Given the description of an element on the screen output the (x, y) to click on. 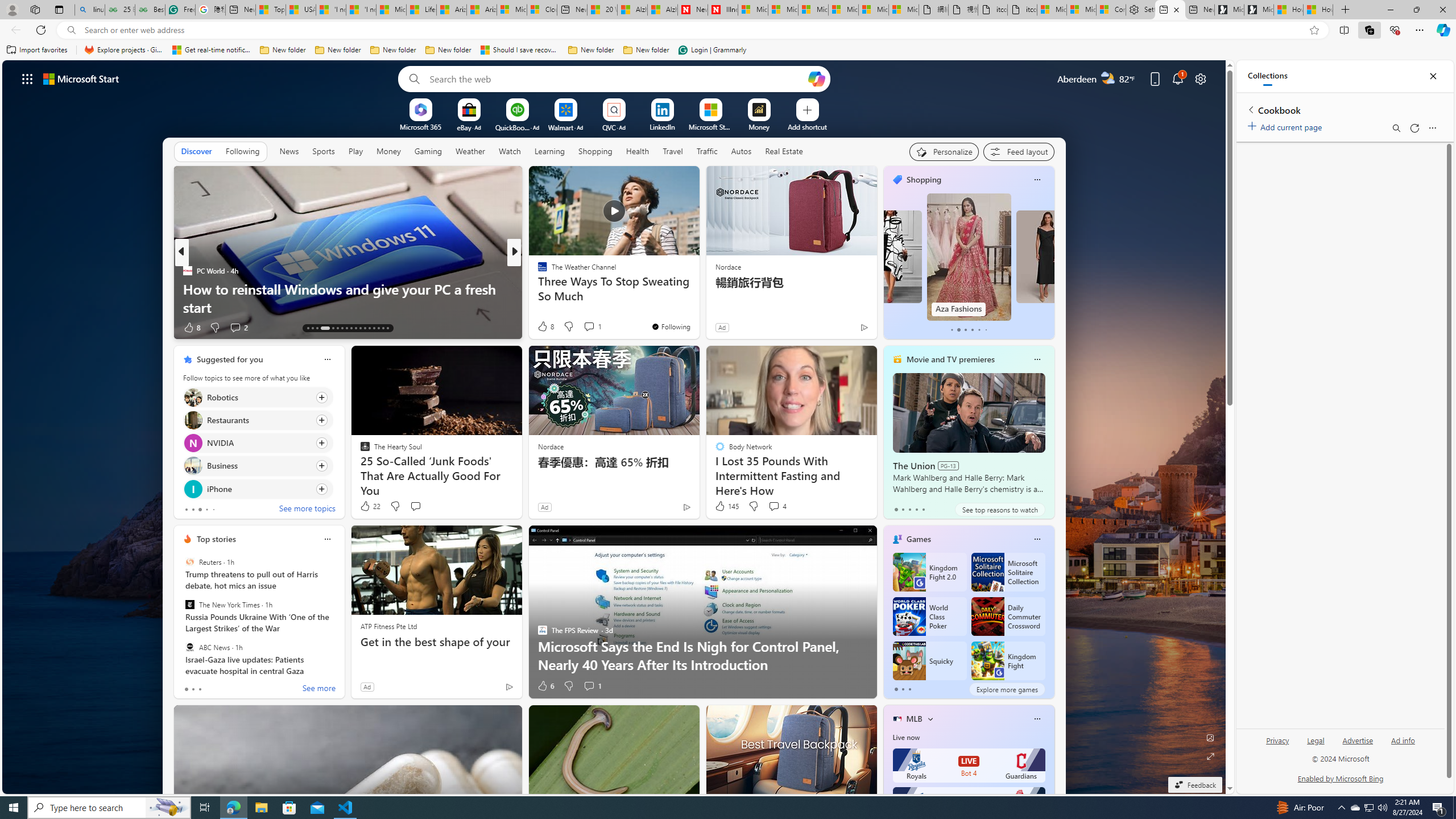
See top reasons to watch (999, 509)
Nordace (550, 446)
AutomationID: tab-27 (378, 328)
Movie and TV premieres (949, 359)
Money (387, 151)
MLB (914, 718)
68 Like (543, 327)
Outdoor Revival (537, 288)
Login | Grammarly (712, 49)
itconcepthk.com/projector_solutions.mp4 (1022, 9)
